Given the description of an element on the screen output the (x, y) to click on. 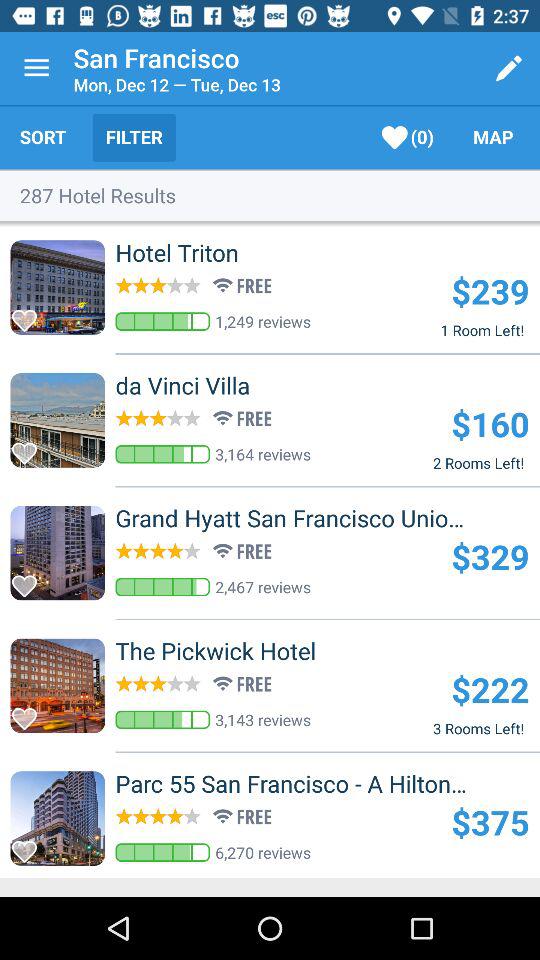
choose hotel triton item (209, 252)
